Given the description of an element on the screen output the (x, y) to click on. 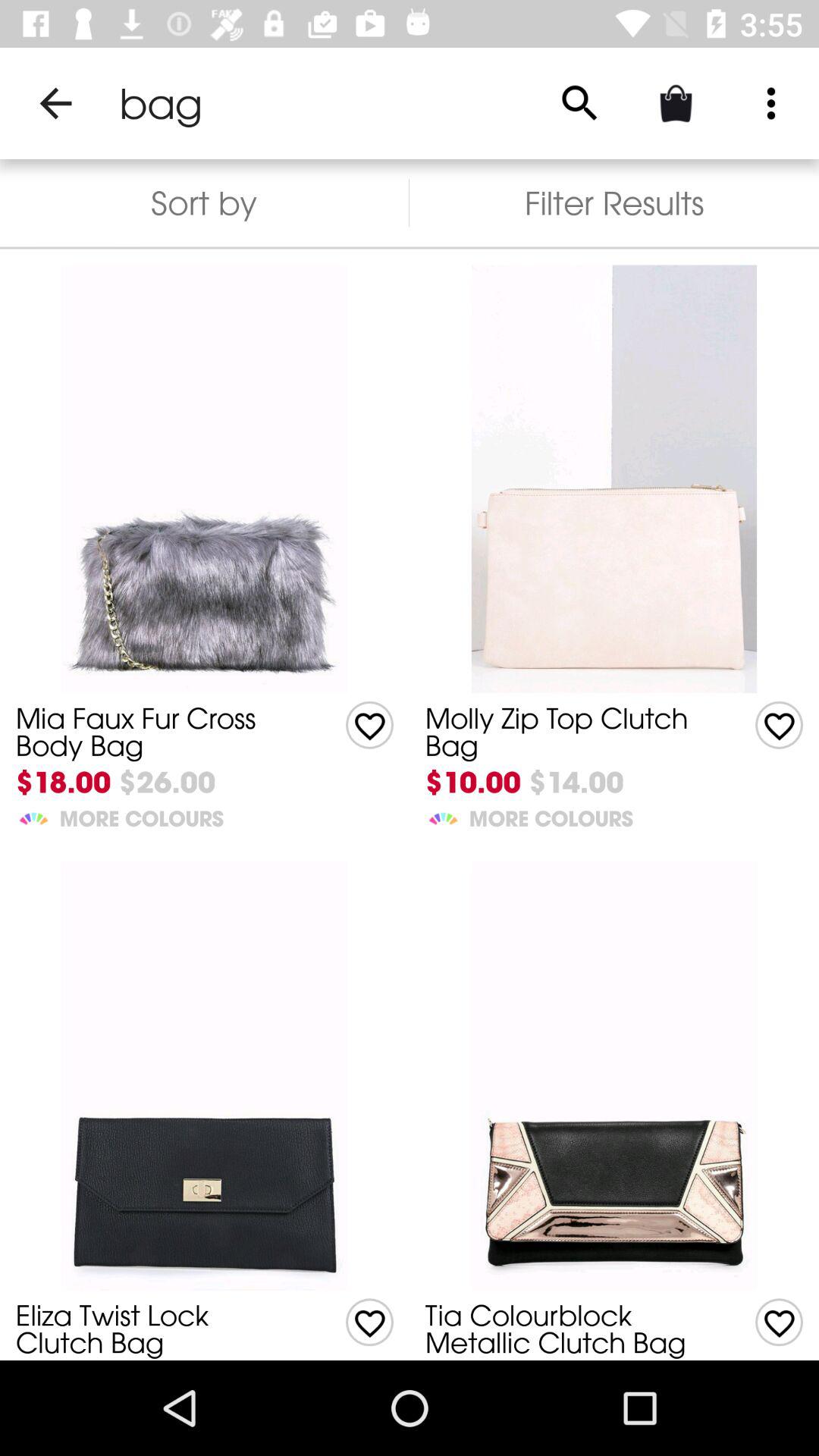
open the icon next to the more colours item (33, 815)
